Given the description of an element on the screen output the (x, y) to click on. 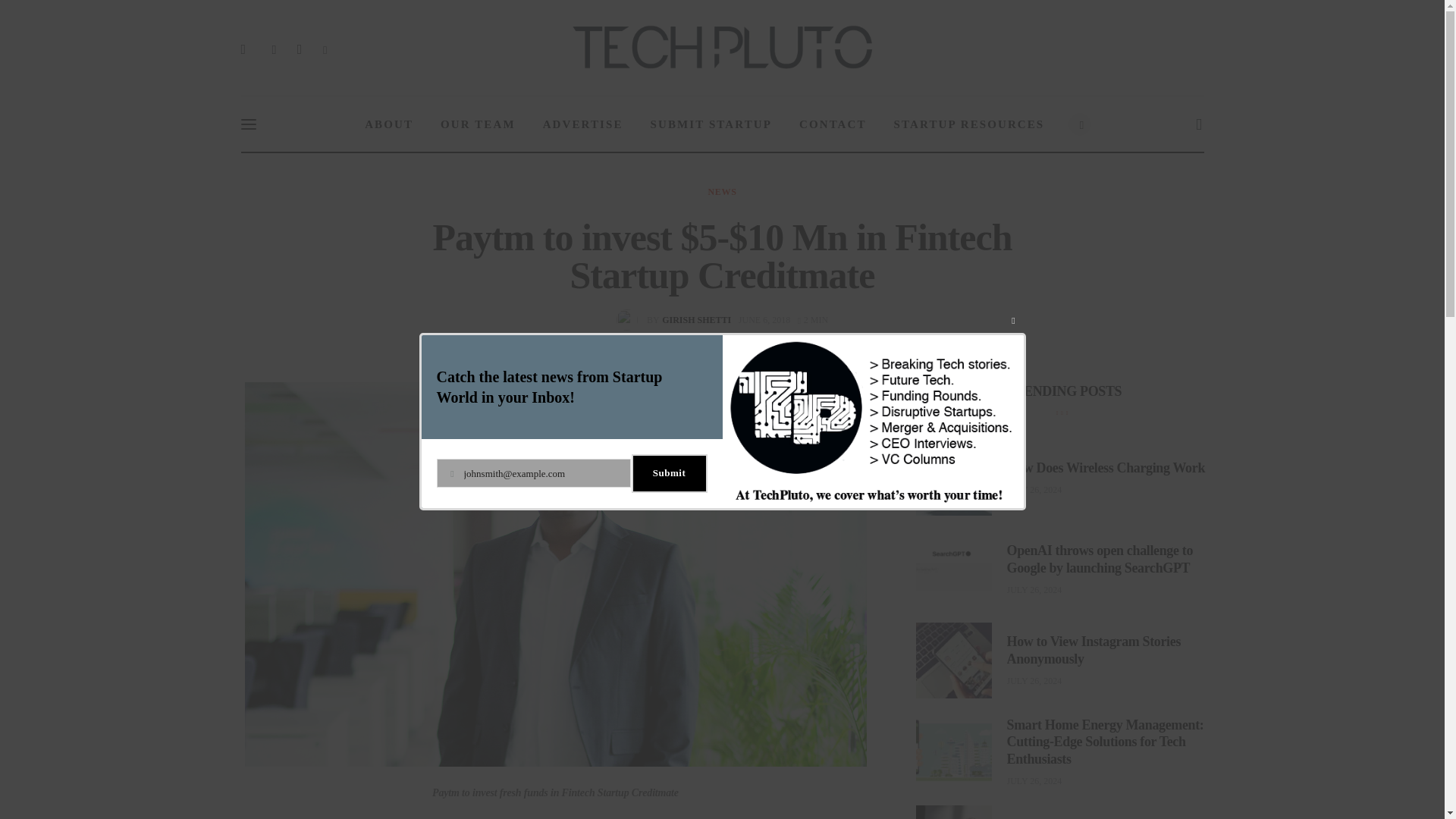
STARTUP RESOURCES (676, 319)
CONTACT (969, 124)
2 MIN (833, 124)
ADVERTISE (812, 319)
SUBMIT STARTUP (583, 124)
NEWS (711, 124)
ABOUT (721, 191)
OUR TEAM (388, 124)
